Given the description of an element on the screen output the (x, y) to click on. 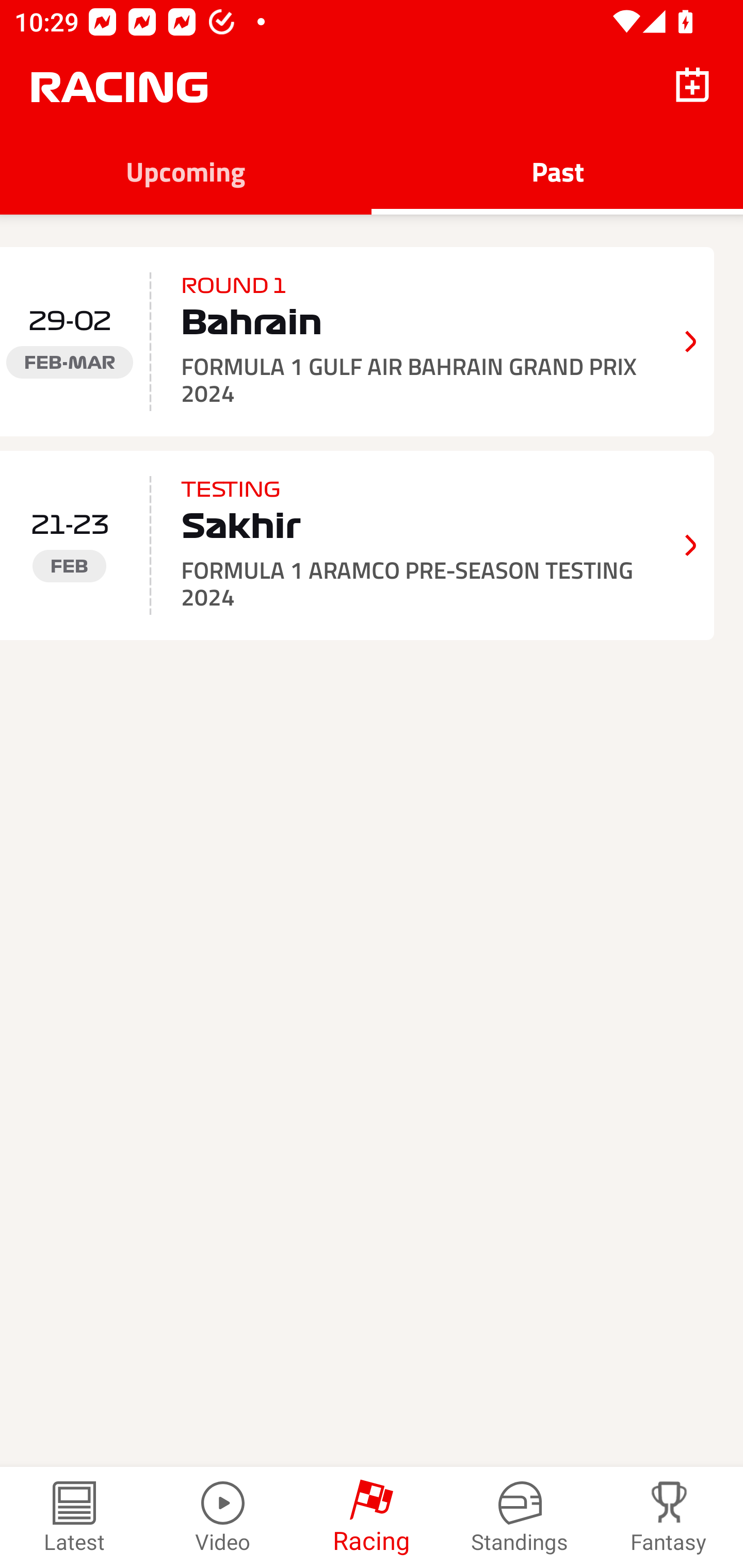
Upcoming (185, 171)
Latest (74, 1517)
Video (222, 1517)
Standings (519, 1517)
Fantasy (668, 1517)
